Given the description of an element on the screen output the (x, y) to click on. 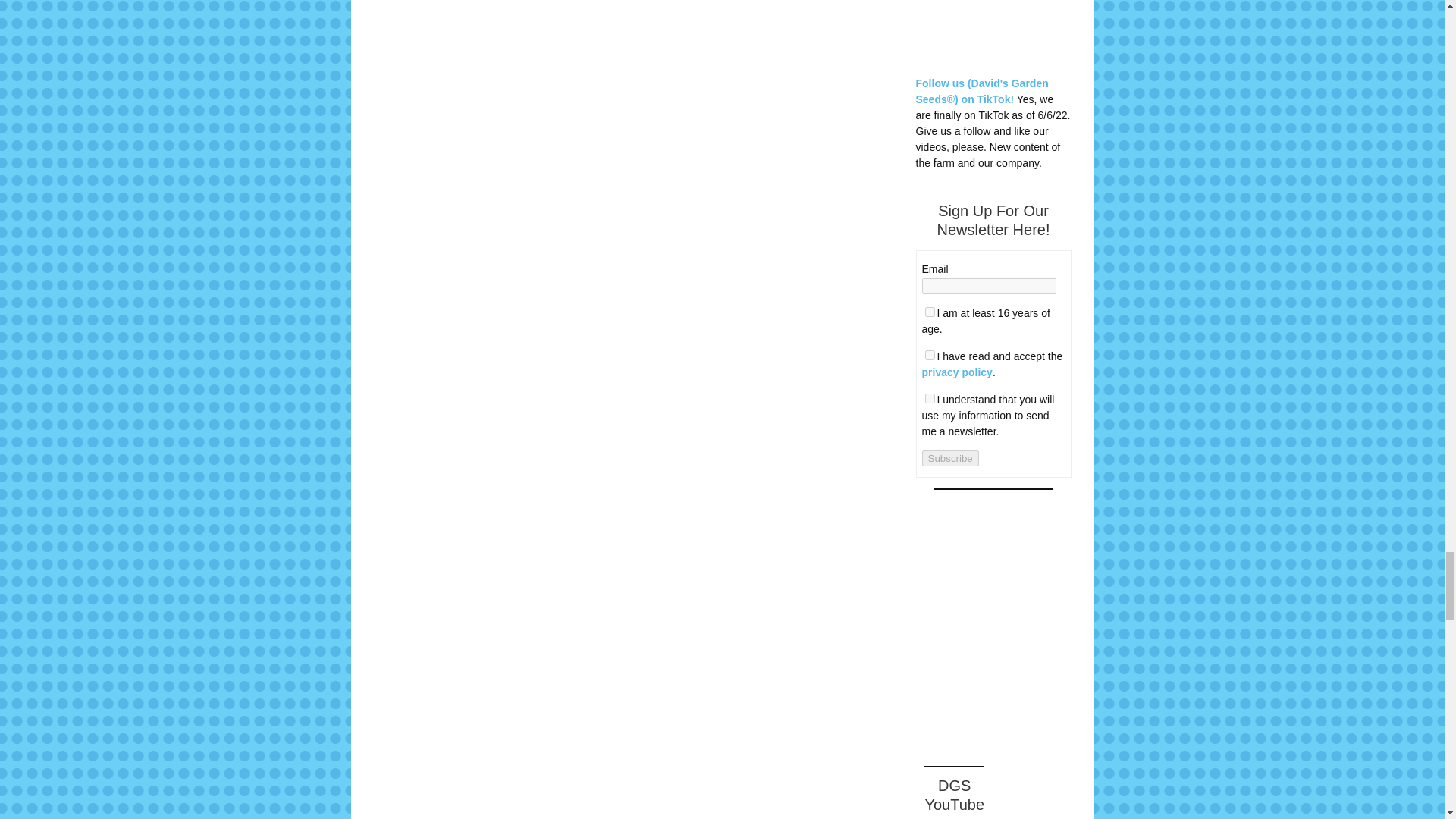
threads2 (954, 724)
on (929, 355)
on (929, 311)
on (929, 398)
